Given the description of an element on the screen output the (x, y) to click on. 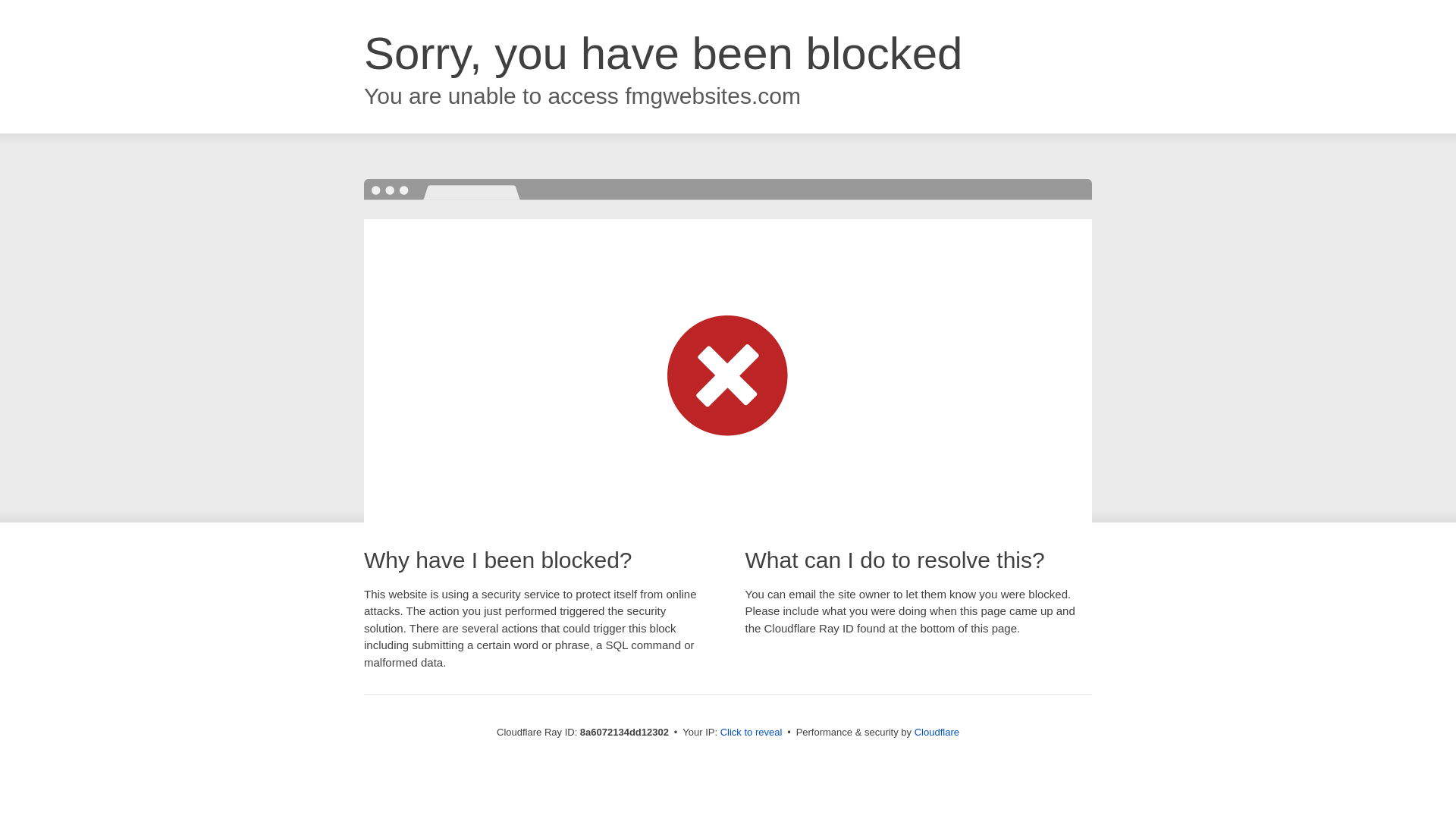
Click to reveal (751, 732)
Cloudflare (936, 731)
